Given the description of an element on the screen output the (x, y) to click on. 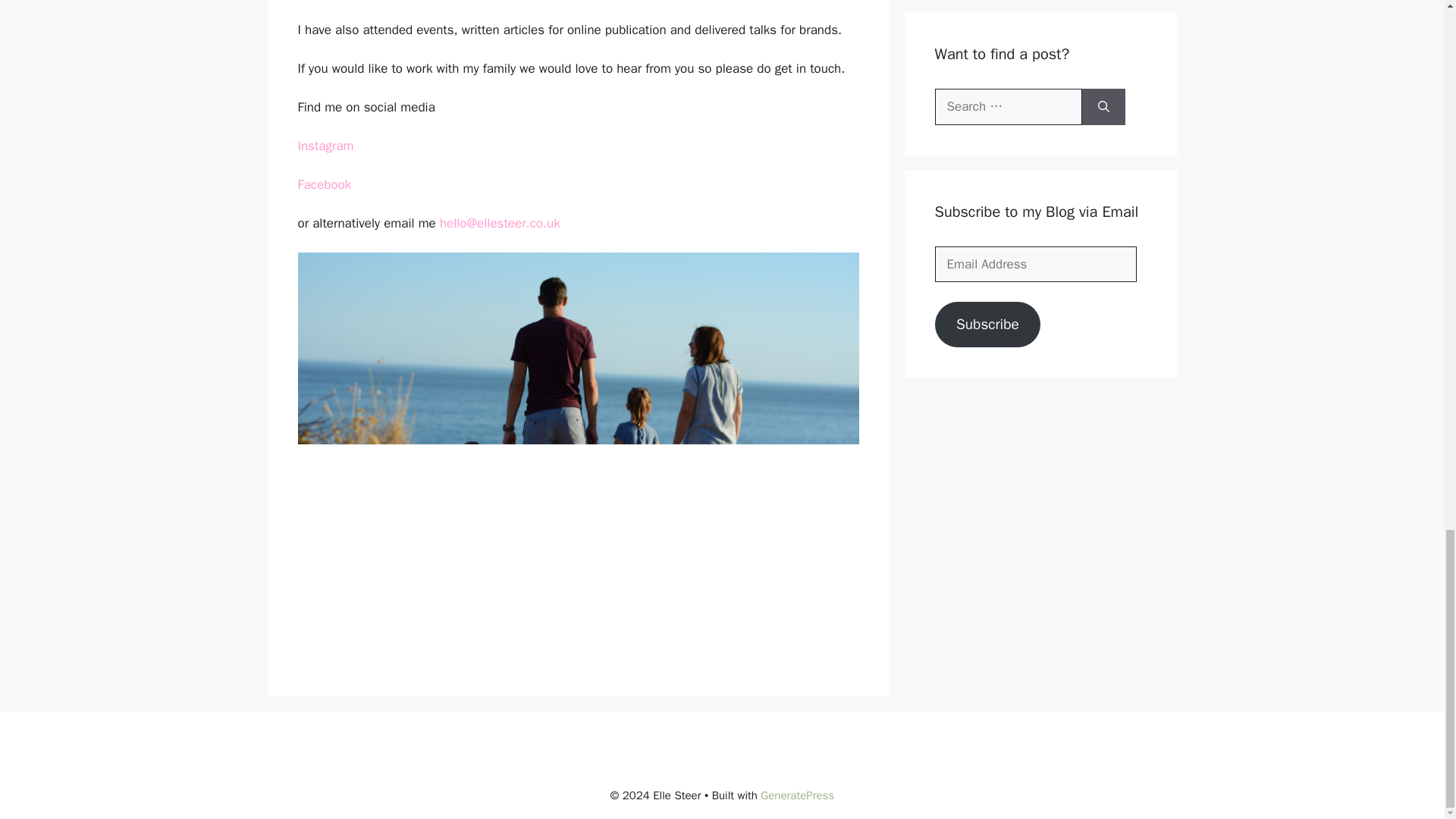
Facebook (323, 184)
Search for: (1007, 106)
Instagram (325, 145)
GeneratePress (797, 795)
Subscribe (987, 324)
